Given the description of an element on the screen output the (x, y) to click on. 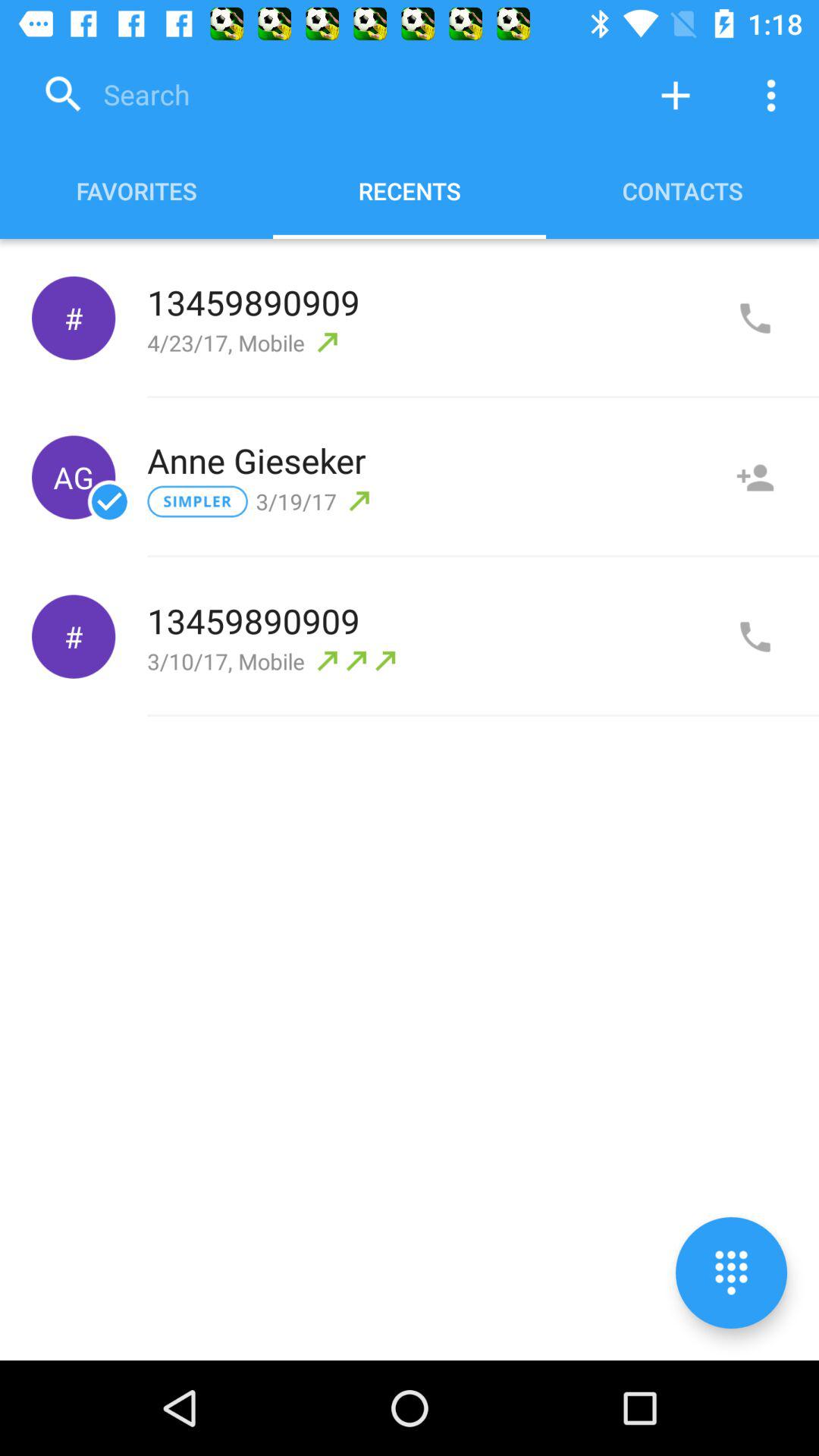
calling button (755, 636)
